Given the description of an element on the screen output the (x, y) to click on. 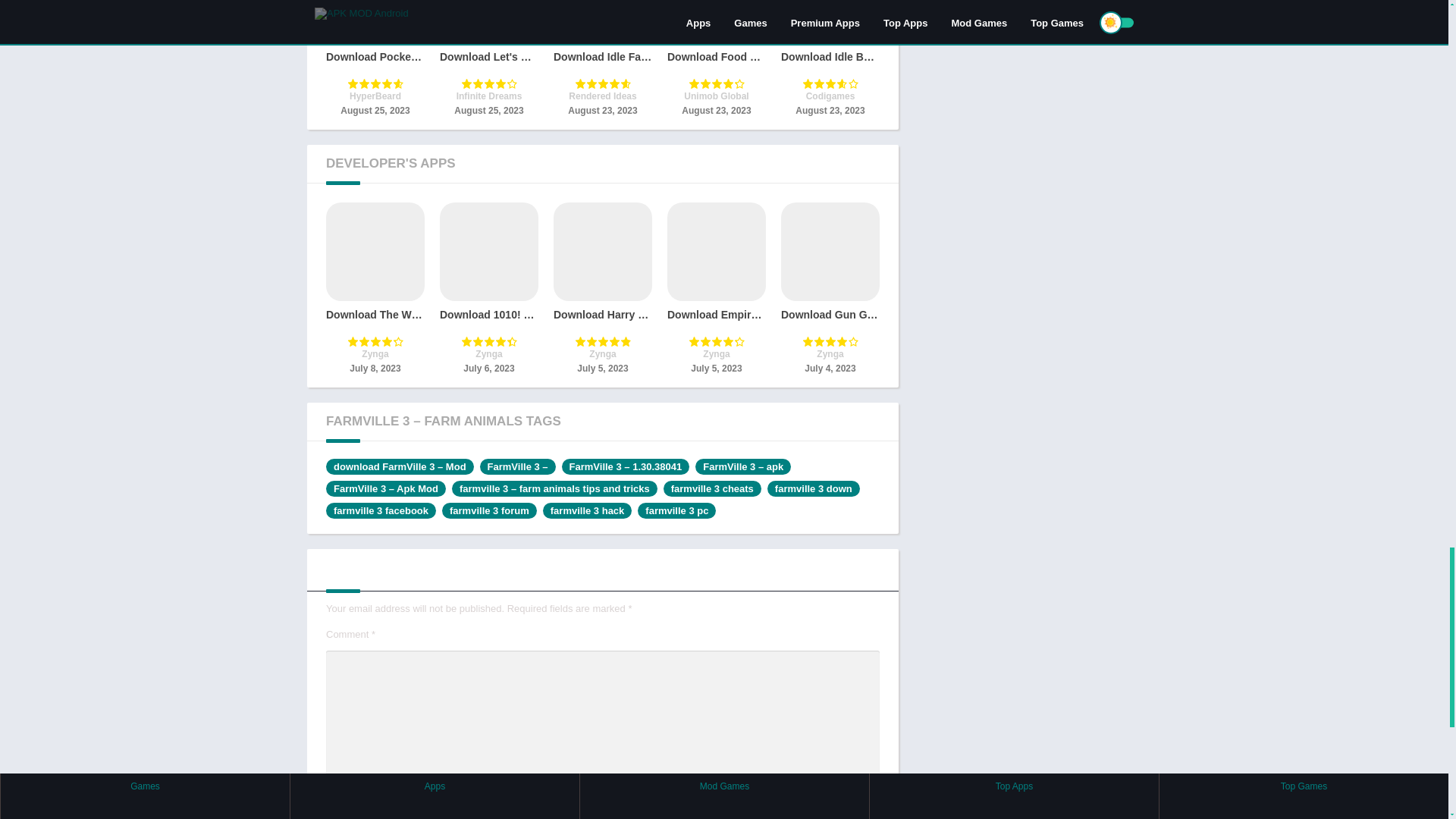
Download Let's Create! Pottery Lite (488, 58)
Download Pocket Love (375, 58)
Download Idle Farming Adventure (602, 58)
Download Food Fever: Restaurant Tycoon (715, 58)
